Given the description of an element on the screen output the (x, y) to click on. 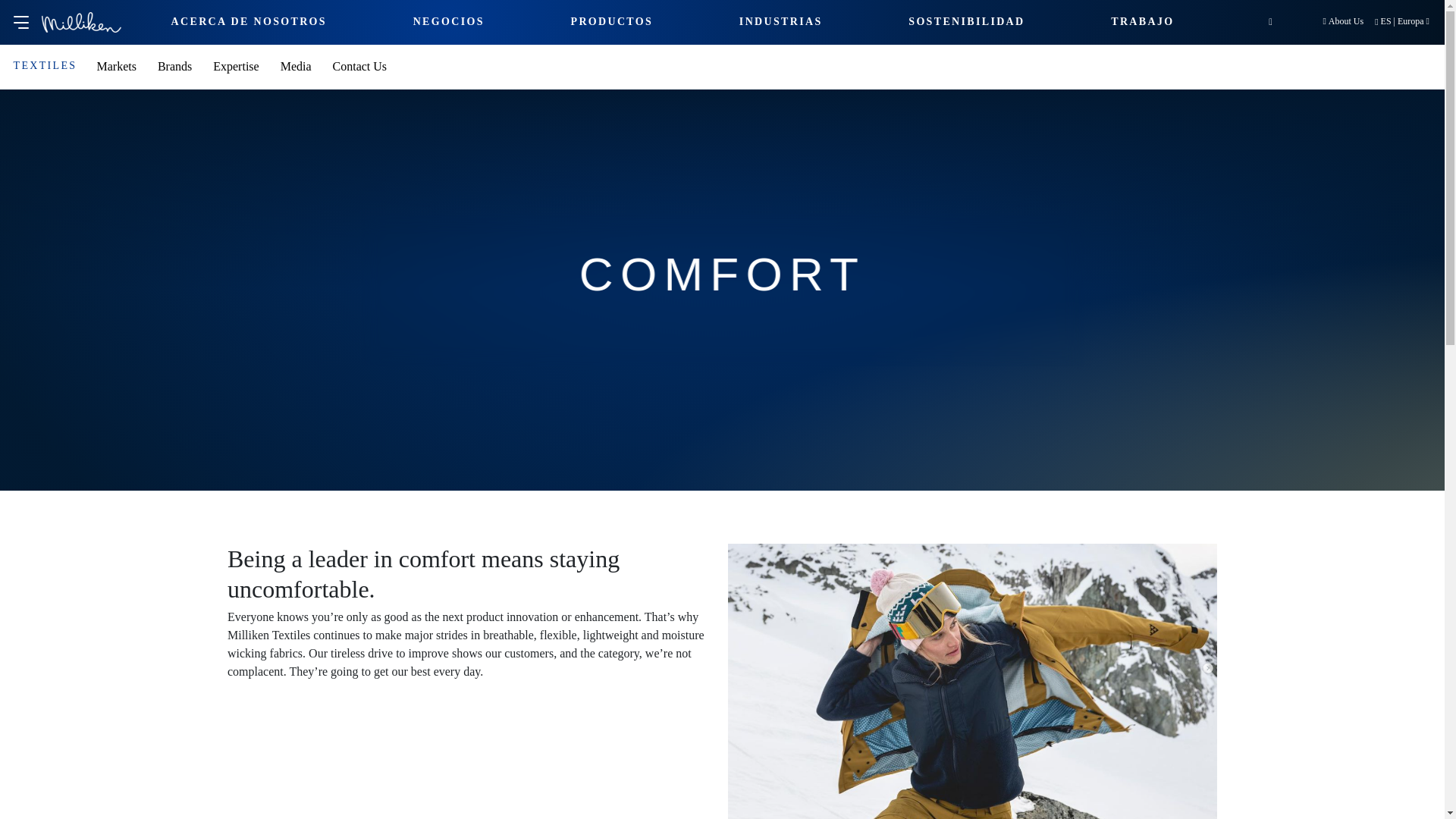
Brands (174, 65)
TRABAJO (1141, 22)
Contact Us (360, 65)
ACERCA DE NOSOTROS (248, 22)
Media (296, 65)
SOSTENIBILIDAD (966, 22)
PRODUCTOS (611, 22)
Markets (115, 65)
TEXTILES (45, 65)
INDUSTRIAS (780, 22)
NEGOCIOS (448, 22)
Expertise (235, 65)
About Us (1342, 20)
